Given the description of an element on the screen output the (x, y) to click on. 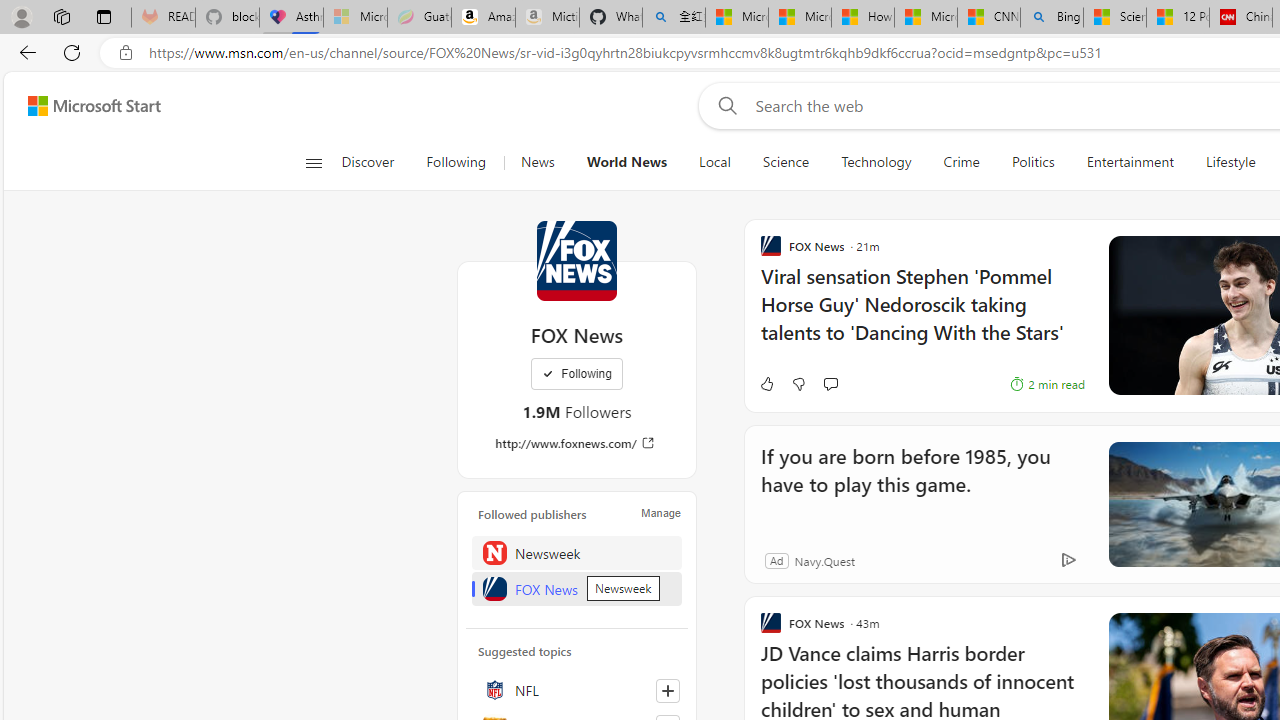
If you are born before 1985, you have to play this game. (916, 484)
CNN - MSN (988, 17)
Newsweek (577, 552)
FOX News (576, 260)
